Given the description of an element on the screen output the (x, y) to click on. 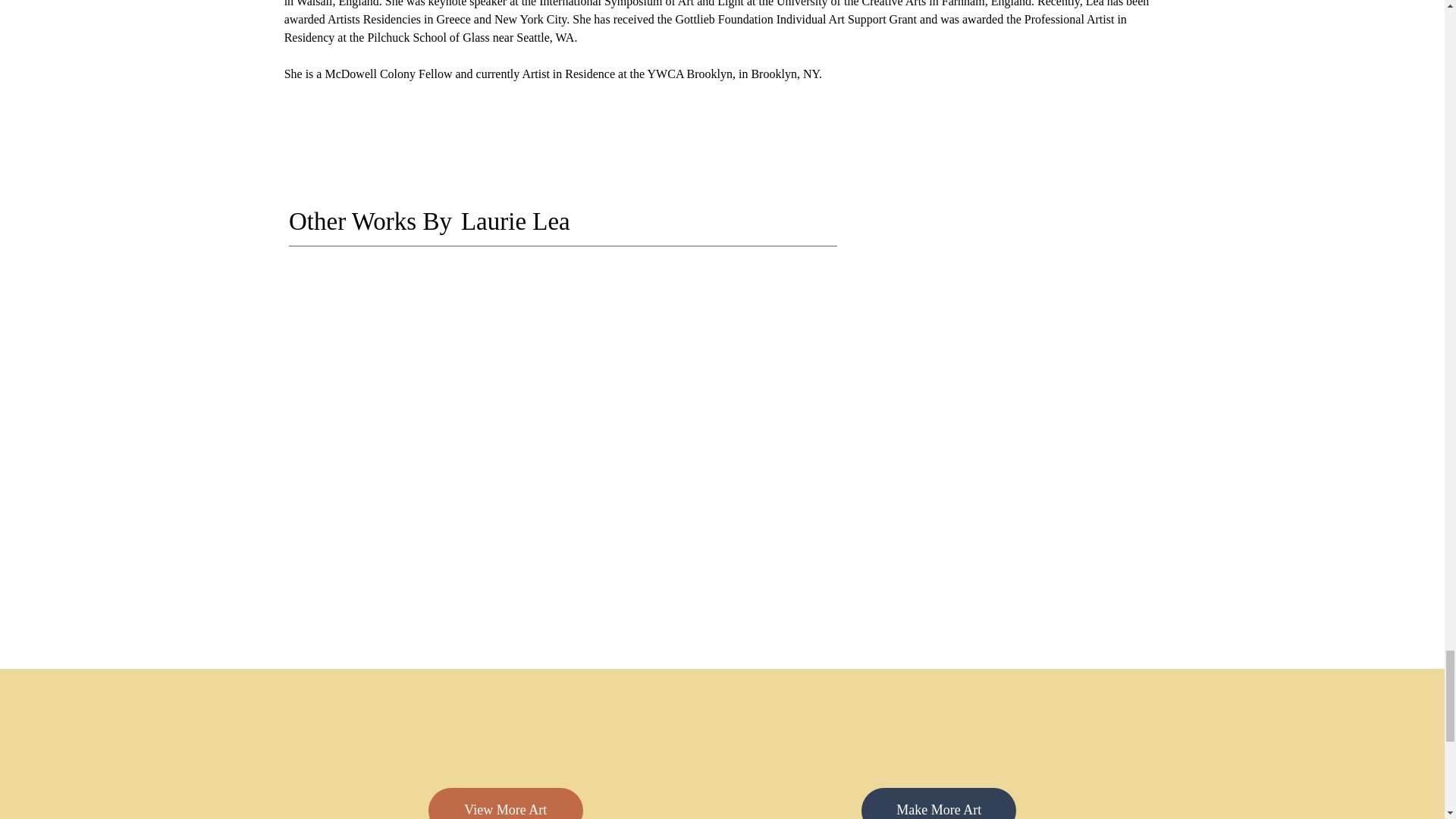
Make More Art (938, 803)
View More Art (505, 803)
